Given the description of an element on the screen output the (x, y) to click on. 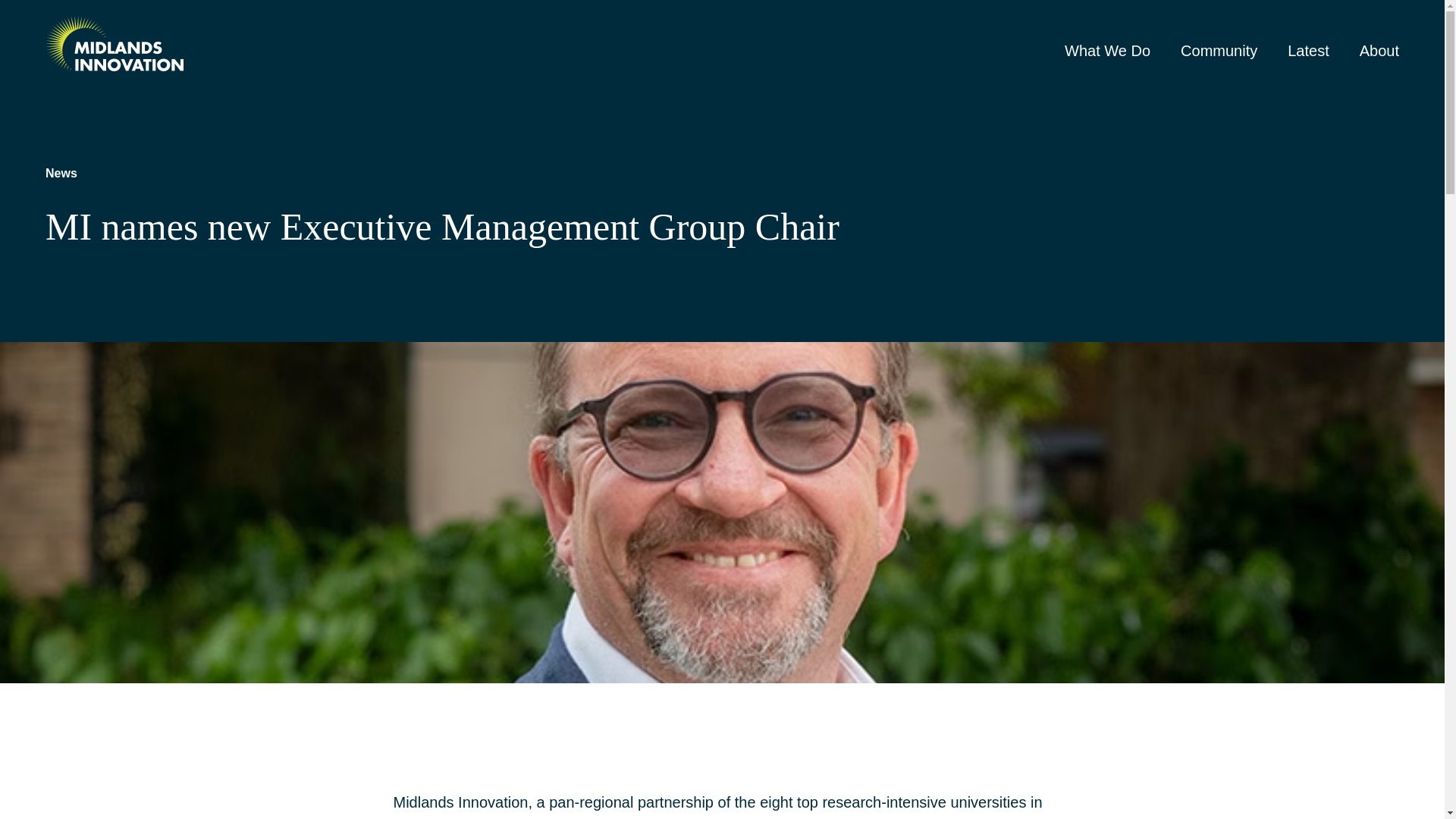
What We Do (1107, 50)
About (1379, 50)
Latest (1307, 50)
Community (1218, 50)
